Given the description of an element on the screen output the (x, y) to click on. 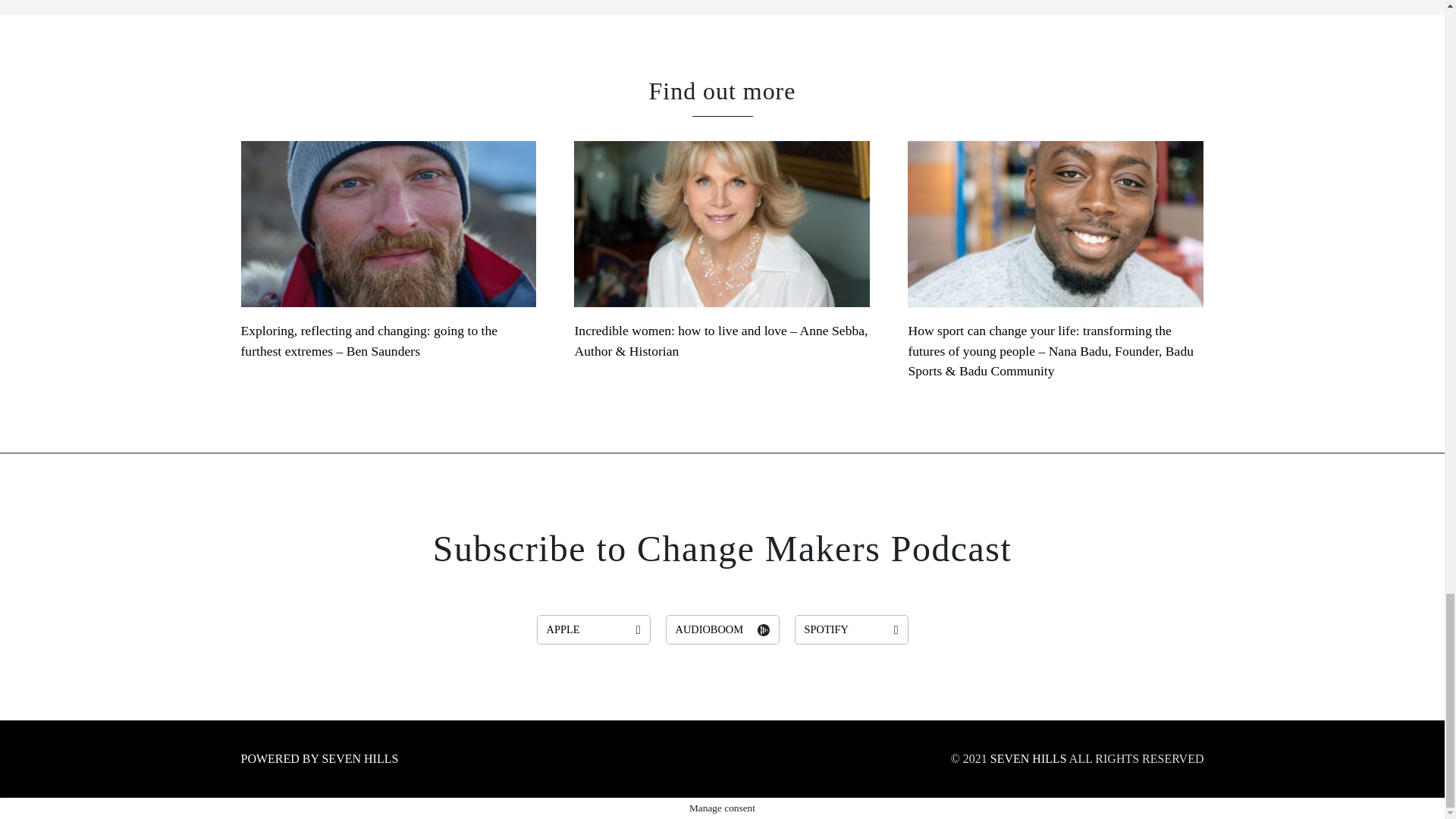
AUDIOBOOM (721, 629)
POWERED BY SEVEN HILLS (319, 758)
SEVEN HILLS (1028, 758)
APPLE (593, 629)
SPOTIFY (851, 629)
